Given the description of an element on the screen output the (x, y) to click on. 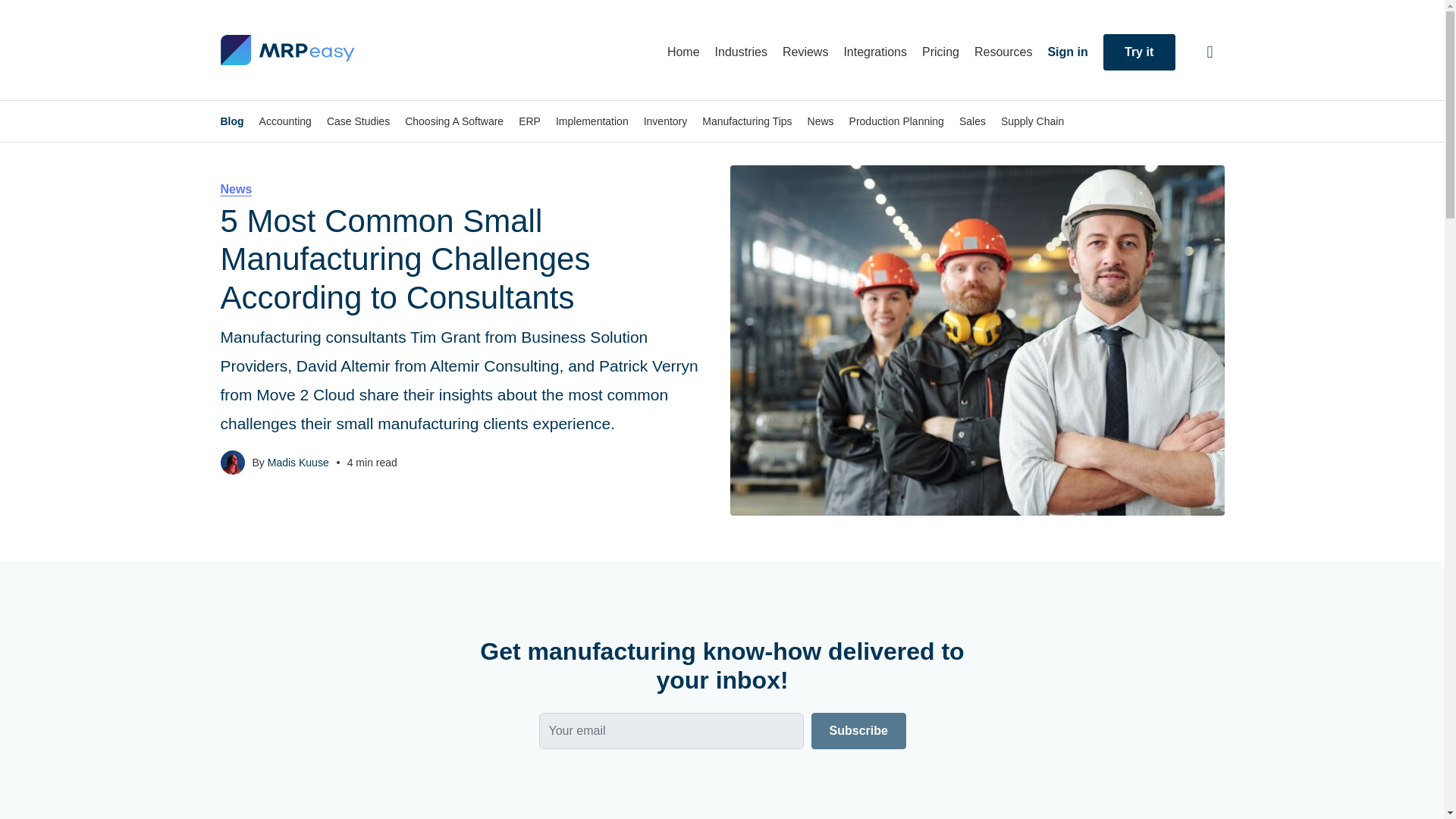
Inventory (665, 121)
Reviews (805, 51)
Integrations (875, 51)
Blog for Manufacturers and Distributors (286, 50)
Choosing A Software (453, 121)
Try it (1138, 52)
Resources (1003, 51)
Try it (1138, 52)
Industries (740, 51)
Accounting (285, 121)
